Given the description of an element on the screen output the (x, y) to click on. 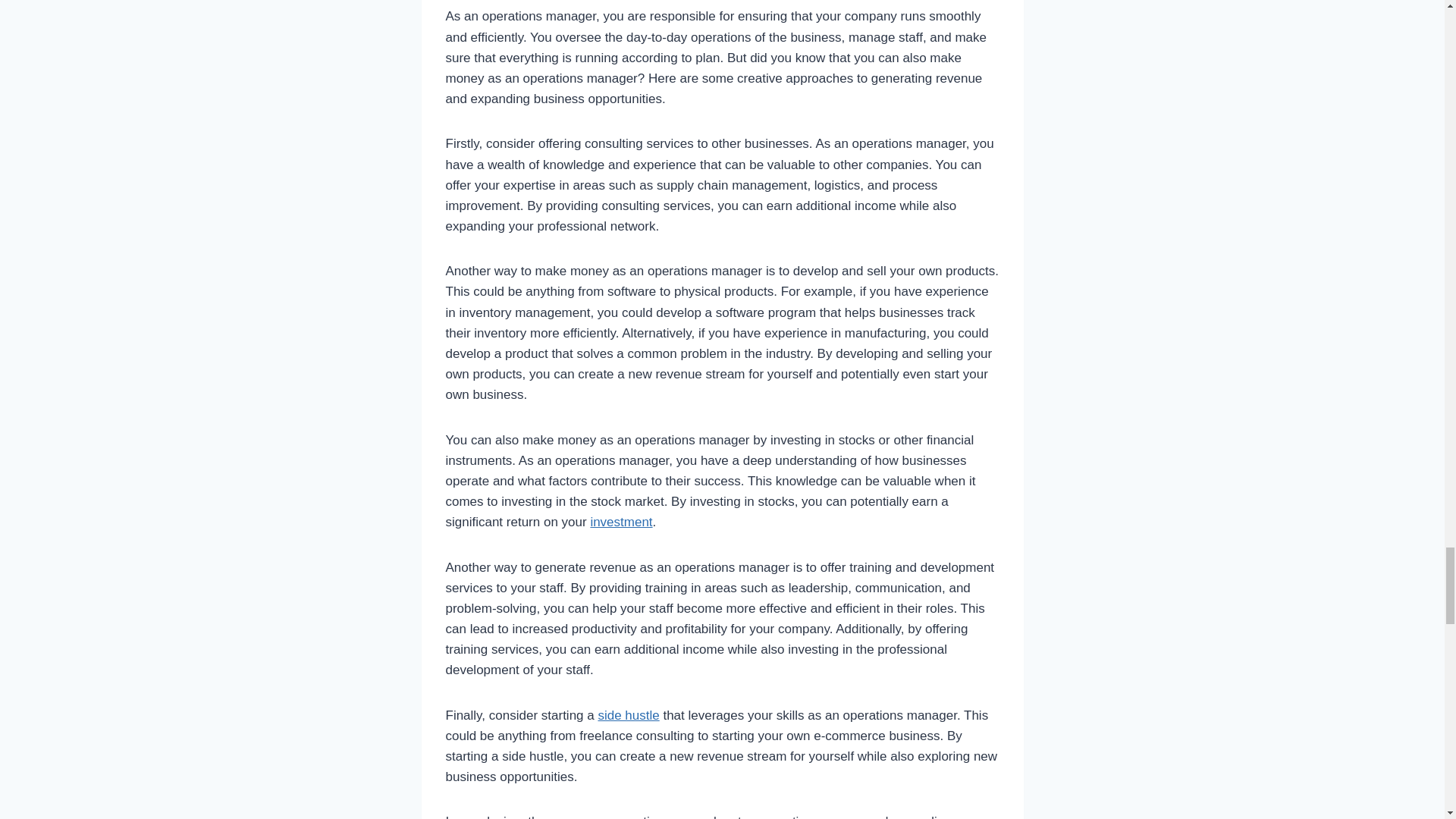
side hustle (627, 715)
side hustle (627, 715)
investment (620, 522)
investment (620, 522)
